Given the description of an element on the screen output the (x, y) to click on. 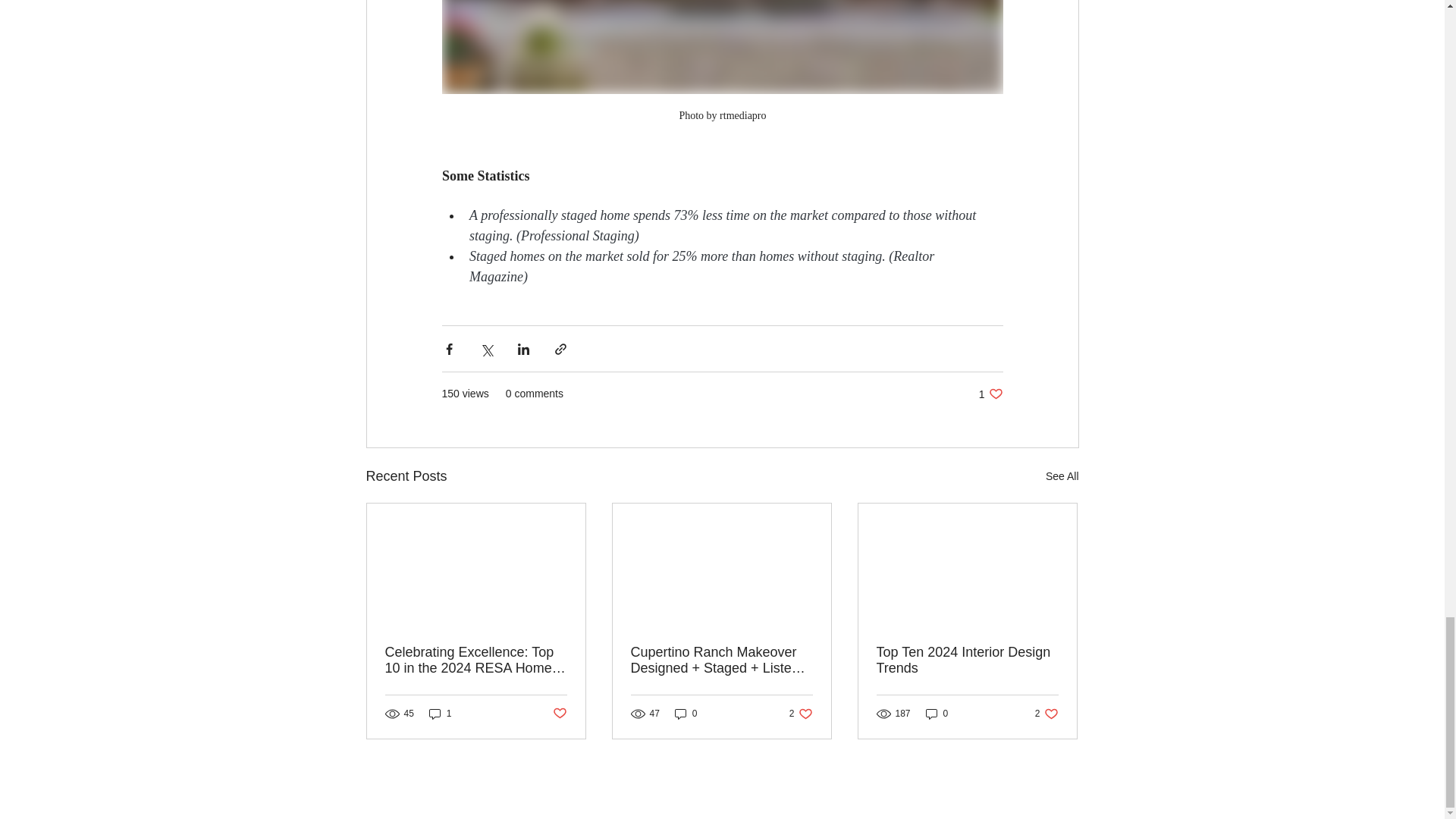
0 (685, 713)
Post not marked as liked (558, 713)
See All (1046, 713)
Top Ten 2024 Interior Design Trends (800, 713)
1 (1061, 476)
0 (990, 393)
